Given the description of an element on the screen output the (x, y) to click on. 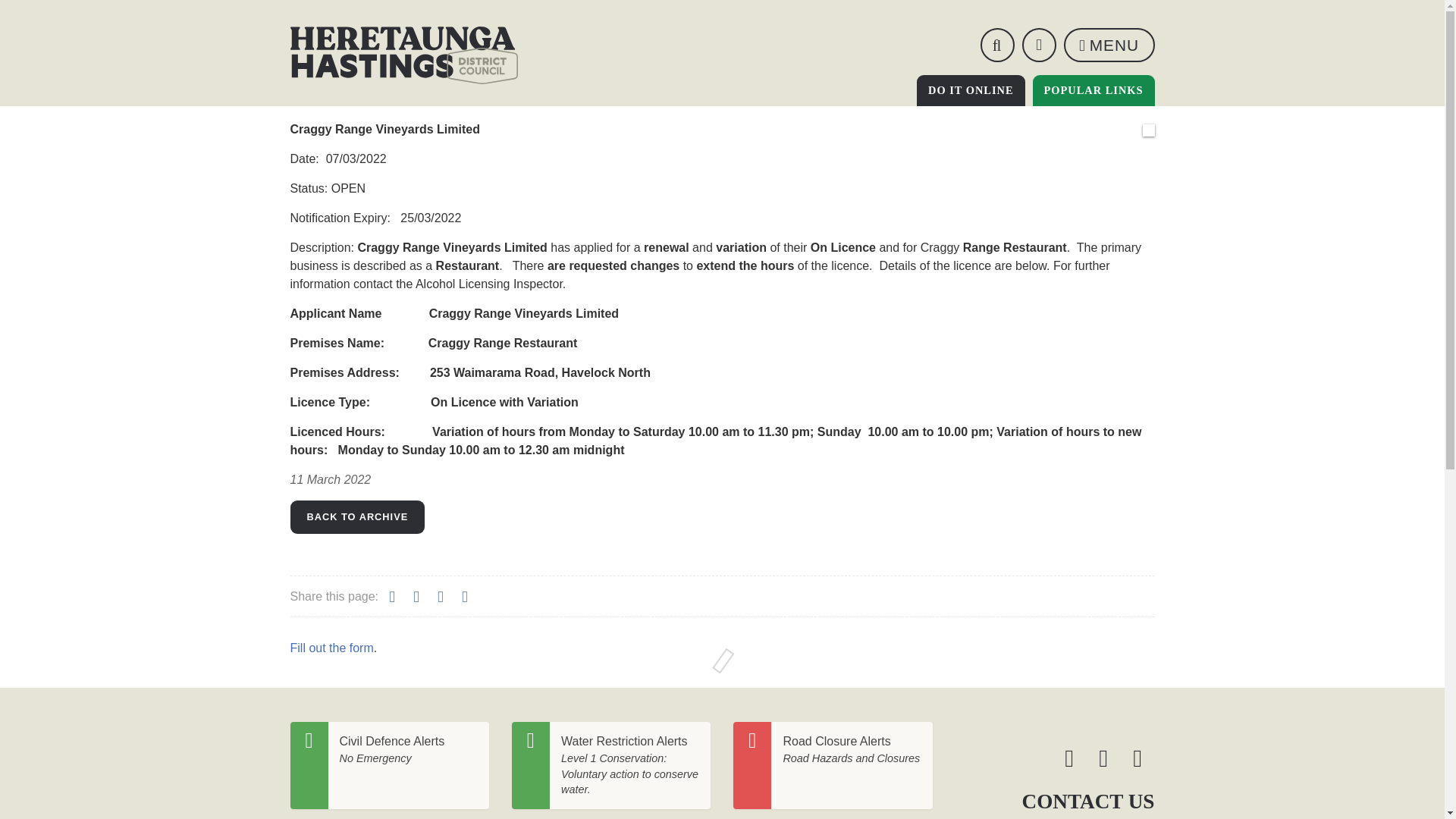
Contact us.  (1108, 44)
Open menu.  (1039, 44)
Hastings District Council homepage.  (1108, 44)
DO IT ONLINE (402, 55)
Do It Online (971, 90)
POPULAR LINKS (971, 90)
Popular Links (1093, 90)
SEARCH THE WEBSITE (1093, 90)
Contact us (996, 44)
